Given the description of an element on the screen output the (x, y) to click on. 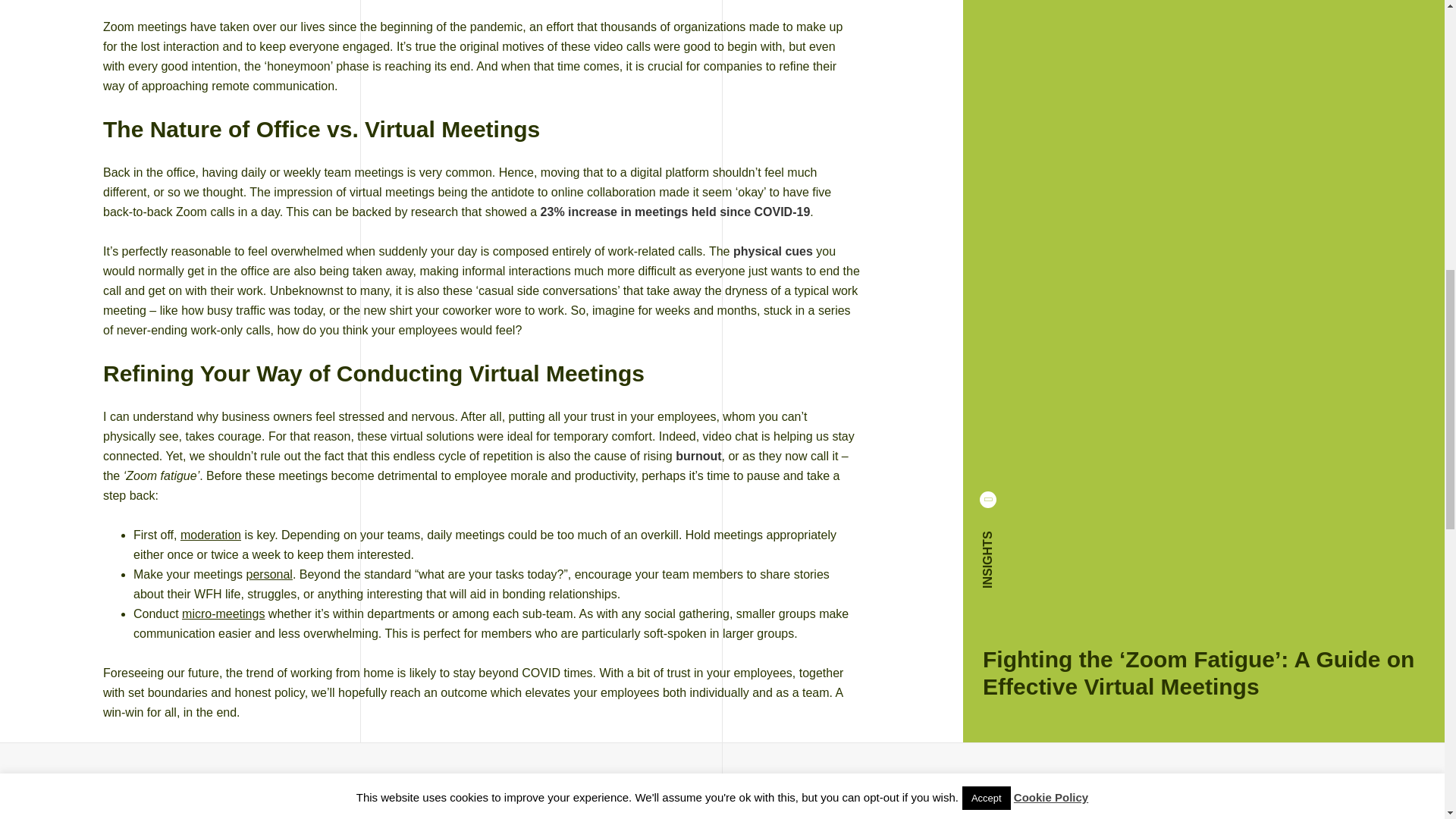
physical cues (772, 250)
burnout (697, 455)
